Given the description of an element on the screen output the (x, y) to click on. 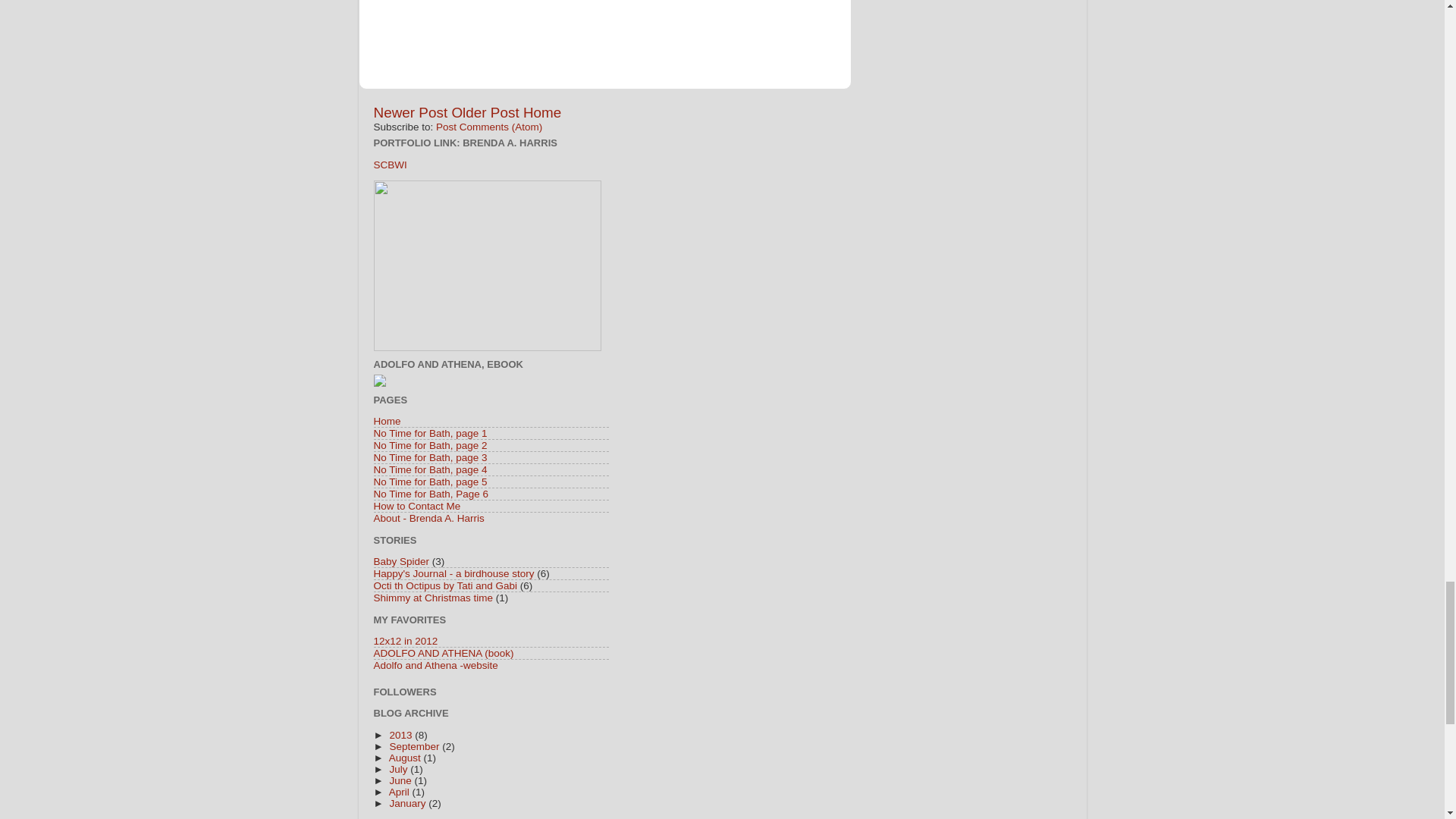
Older Post (484, 112)
Newer Post (409, 112)
